Given the description of an element on the screen output the (x, y) to click on. 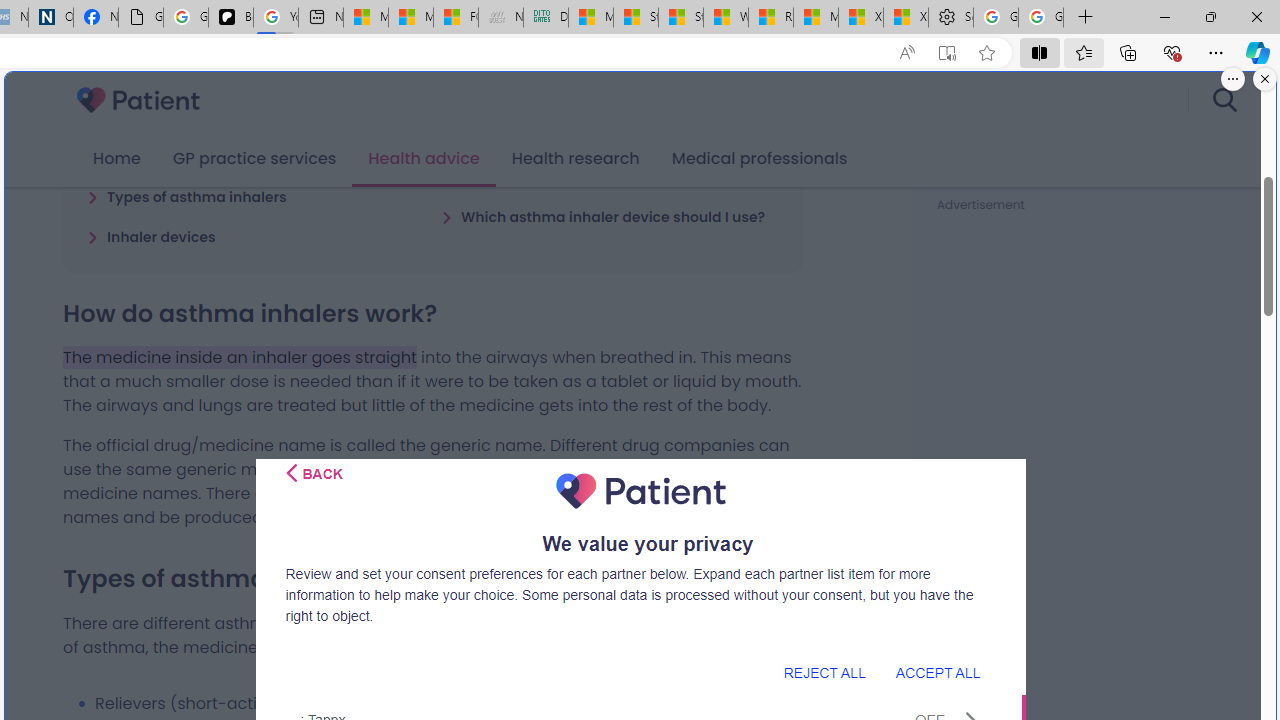
Which asthma inhaler device should I use? (603, 216)
Medical professionals (759, 159)
search (1223, 99)
Google Analytics Opt-out Browser Add-on Download Page (140, 17)
Health research (575, 159)
